Given the description of an element on the screen output the (x, y) to click on. 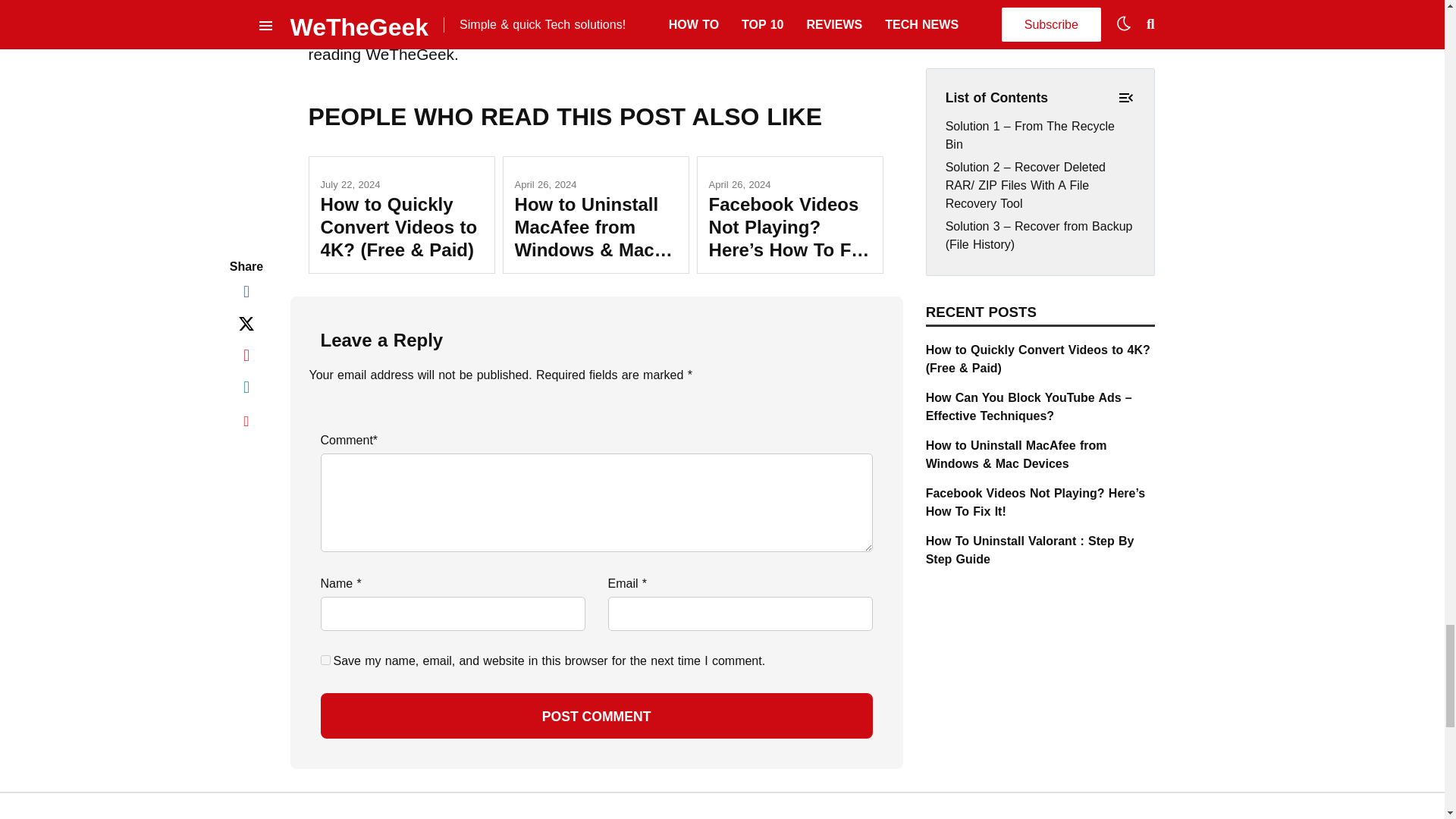
Post Comment (596, 715)
yes (325, 660)
